Given the description of an element on the screen output the (x, y) to click on. 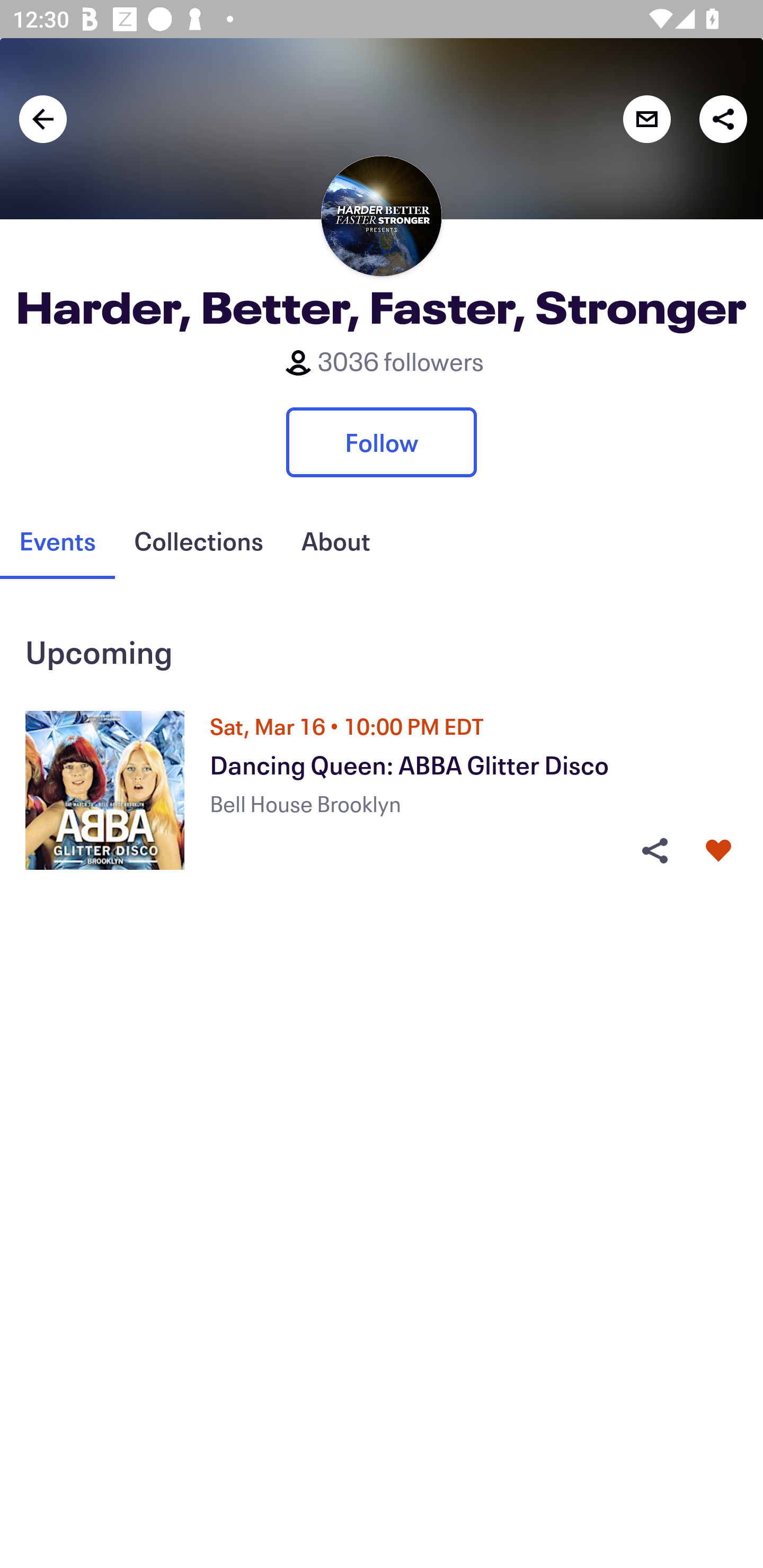
Back navigation arrow (43, 118)
Contact organizer (646, 118)
Share with friends (722, 118)
Follow (381, 441)
Collections (198, 540)
About (335, 540)
Share Event (654, 850)
Unlike event (718, 850)
